Given the description of an element on the screen output the (x, y) to click on. 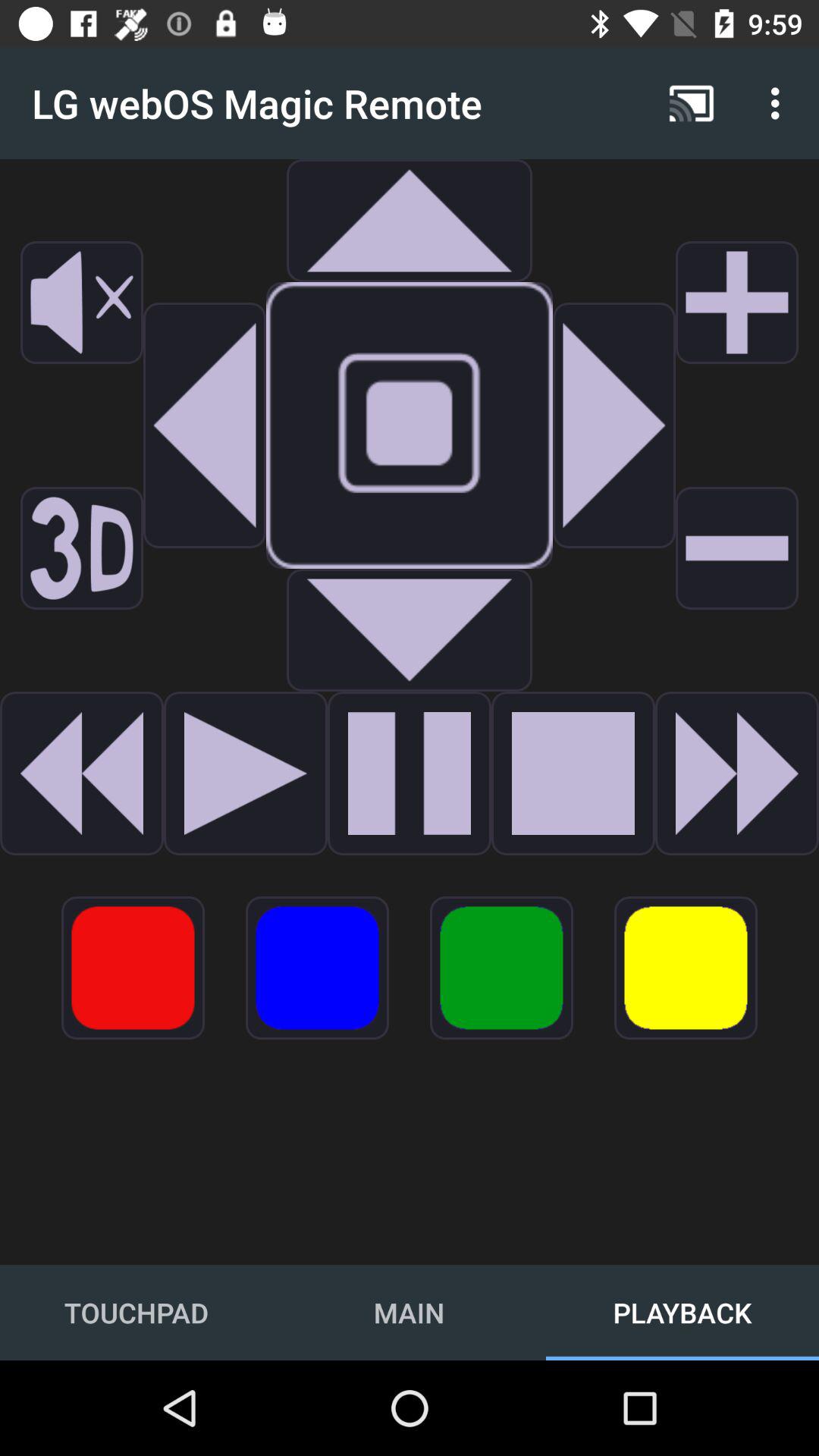
choose icon below the lg webos magic item (81, 302)
